Given the description of an element on the screen output the (x, y) to click on. 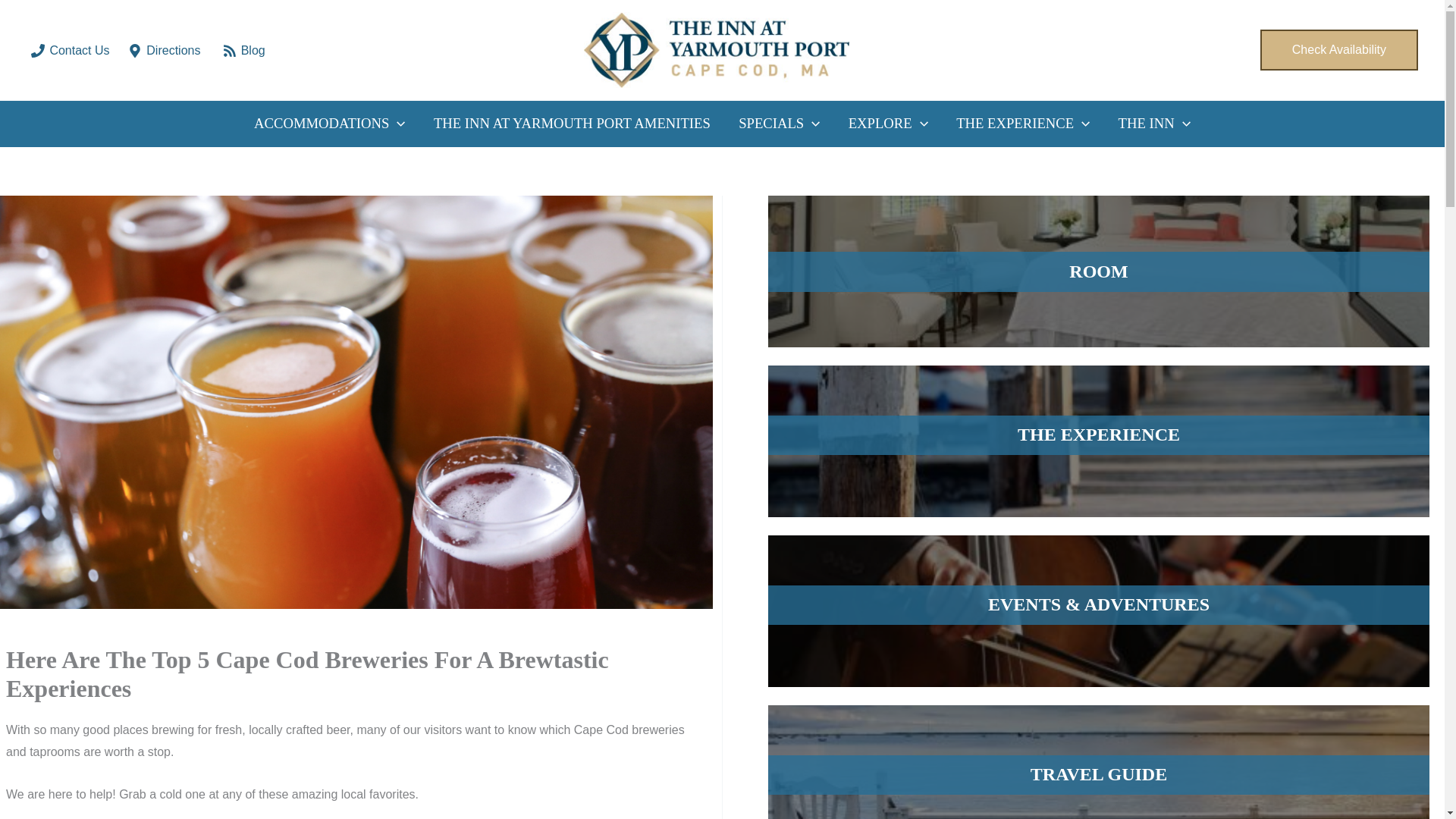
Blog (242, 50)
Contact Us (70, 50)
Directions  (165, 50)
SPECIALS (779, 123)
THE INN AT YARMOUTH PORT AMENITIES (571, 123)
THE INN (1154, 123)
ACCOMMODATIONS (329, 123)
EXPLORE (888, 123)
THE EXPERIENCE (1022, 123)
Check Availability (1339, 49)
